Given the description of an element on the screen output the (x, y) to click on. 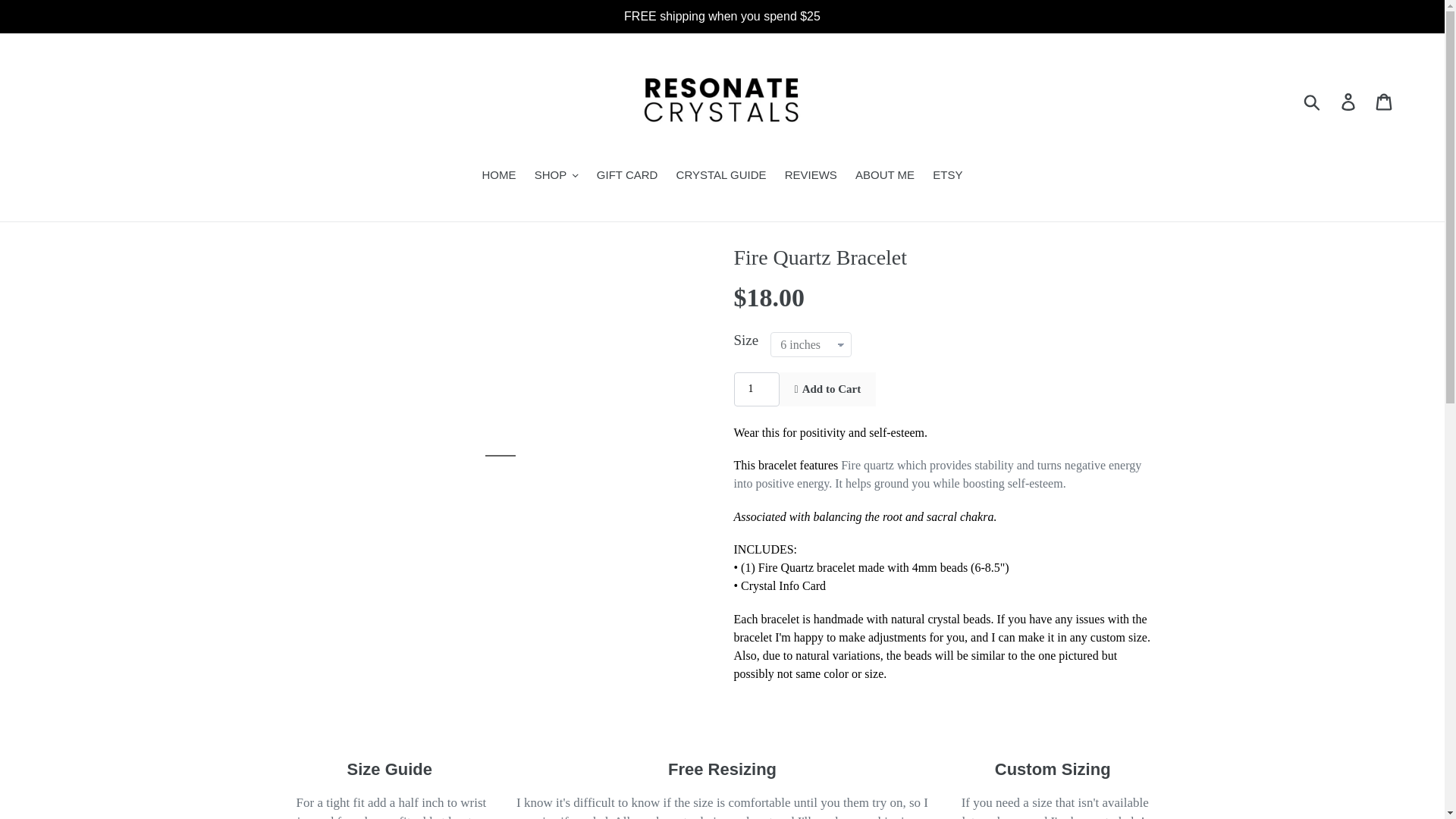
CRYSTAL GUIDE (721, 176)
ETSY (946, 176)
Submit (1313, 101)
Cart (1385, 101)
Log in (1349, 101)
GIFT CARD (627, 176)
ABOUT ME (884, 176)
1 (755, 389)
HOME (499, 176)
REVIEWS (810, 176)
